Given the description of an element on the screen output the (x, y) to click on. 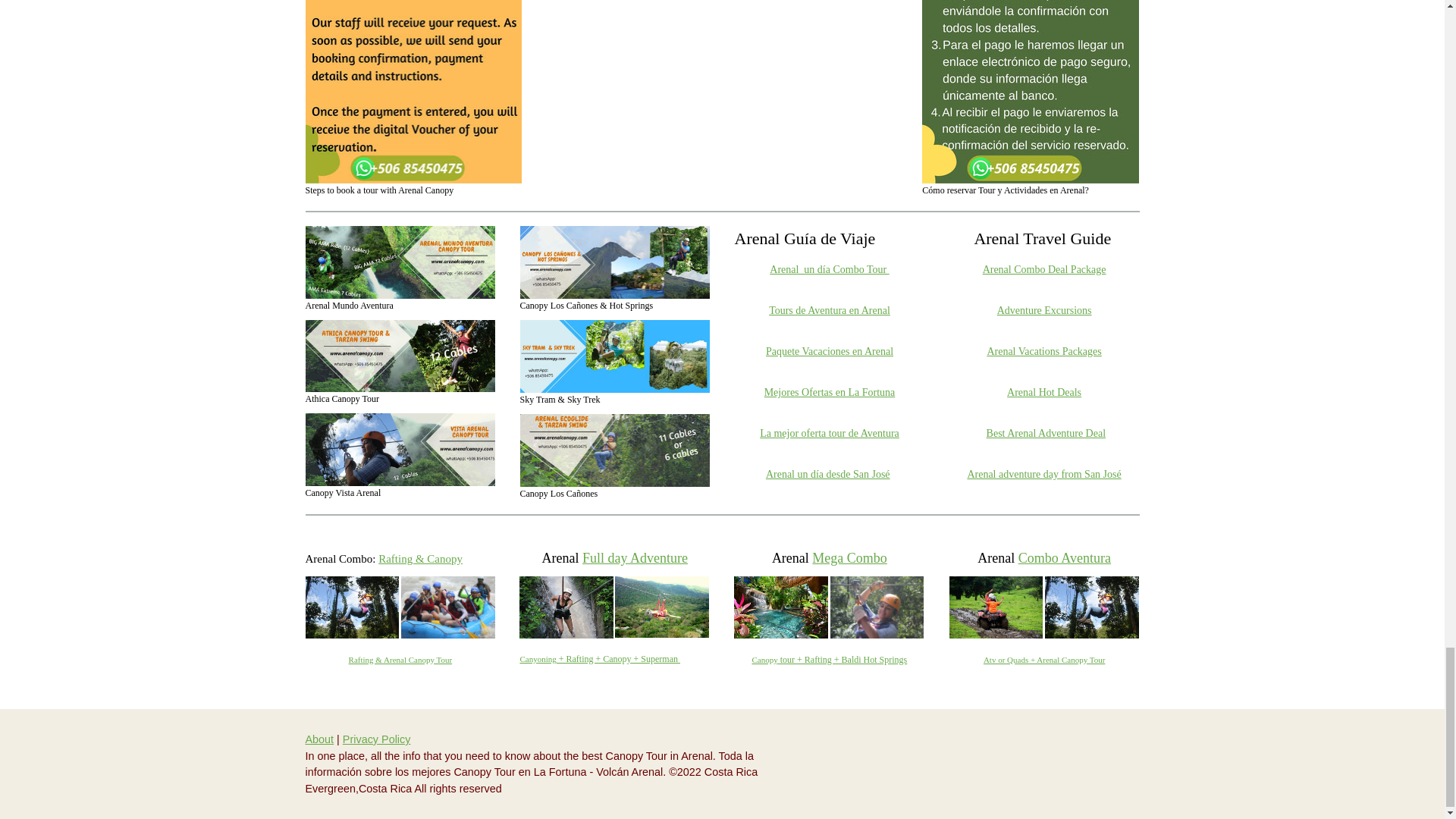
Tours de Aventura en Arenal (828, 309)
Paquete Vacaciones Arenal (829, 350)
Full Day Adventure (634, 557)
Arenal Vacation Packages (1043, 350)
Combos Ofertas Paquetes (829, 268)
Full Day Adventure (599, 657)
Combo Deals Package (1044, 268)
Arenal HOT DEALS (1044, 392)
San Jose to Arenal day adventure tour (1043, 473)
OFERTAS Arenal (829, 391)
Adventure Excursions in Arenal (1044, 310)
